Given the description of an element on the screen output the (x, y) to click on. 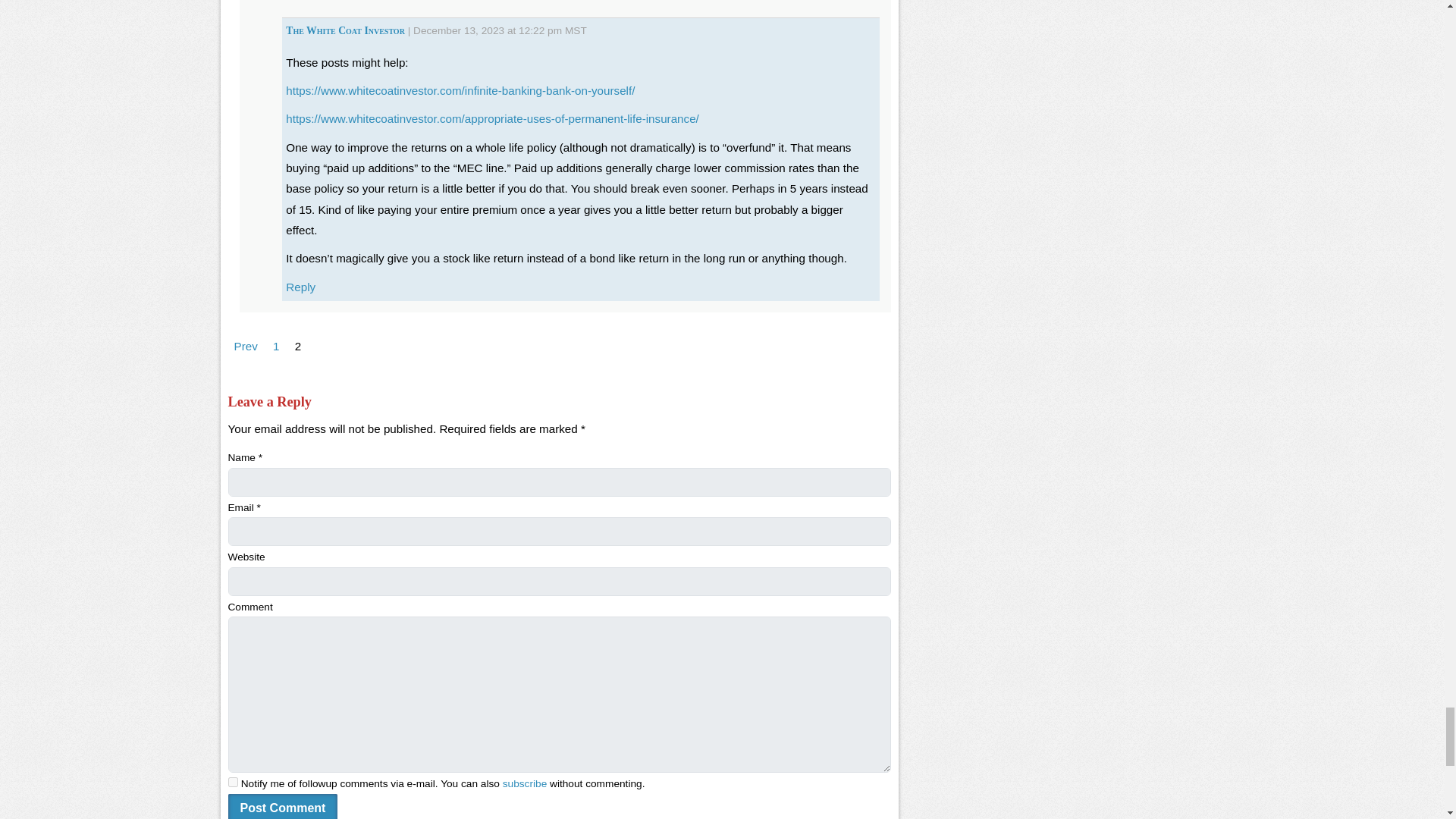
Post Comment (282, 806)
replies (232, 782)
